Given the description of an element on the screen output the (x, y) to click on. 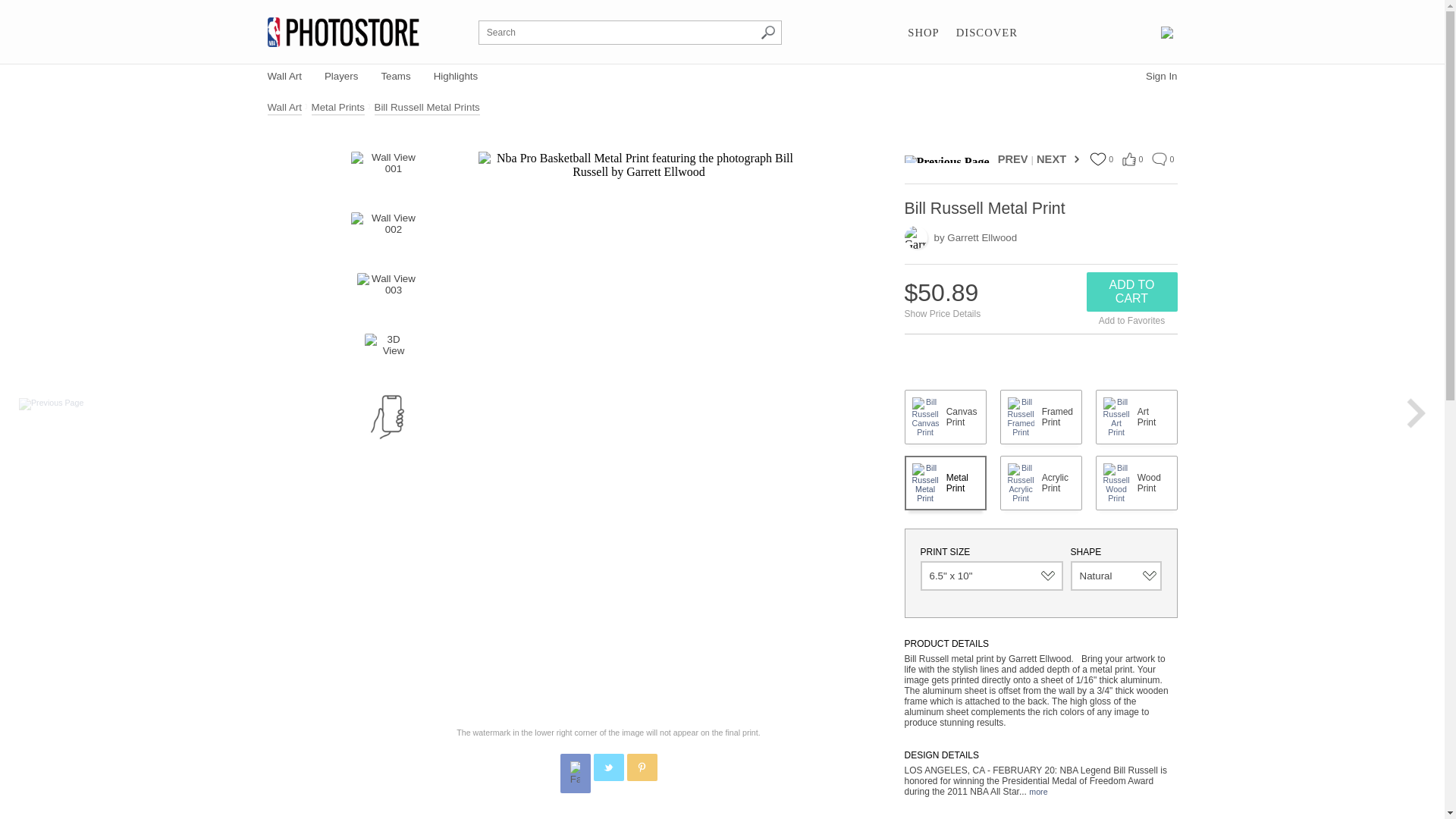
Favorite (1097, 159)
Comment (1158, 159)
Twitter (609, 767)
Share Product on Pinterest (641, 767)
Wall View 003 (386, 295)
NBA Photo Store (342, 31)
Wall View 001 (386, 174)
DISCOVER (987, 32)
Wall View 002 (386, 234)
Launch Mobile App (387, 416)
